Given the description of an element on the screen output the (x, y) to click on. 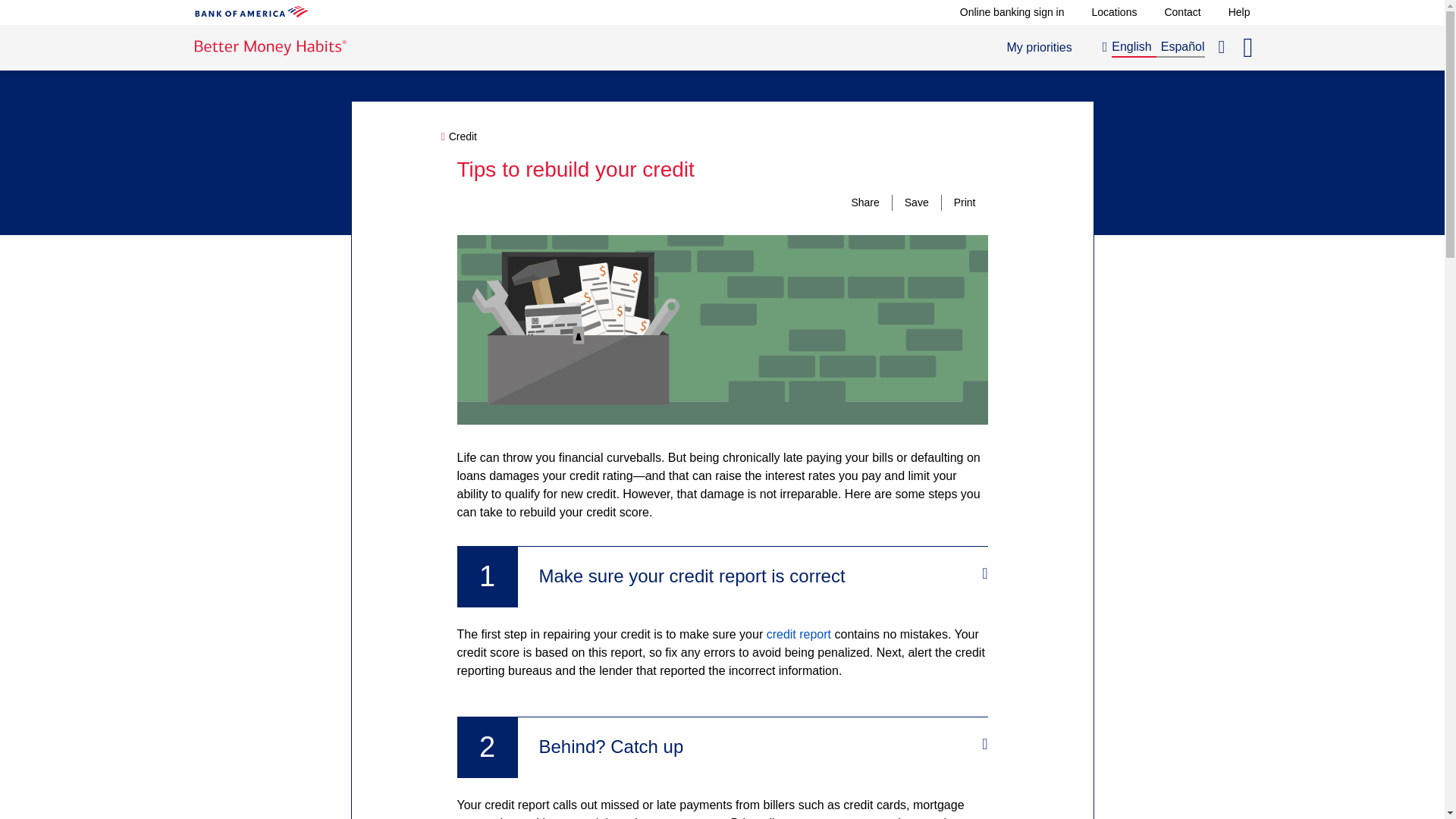
English (1129, 47)
Help (1239, 11)
Online banking sign in (1011, 11)
How to read a credit report (1038, 47)
Contact (799, 634)
Locations (1181, 11)
